Given the description of an element on the screen output the (x, y) to click on. 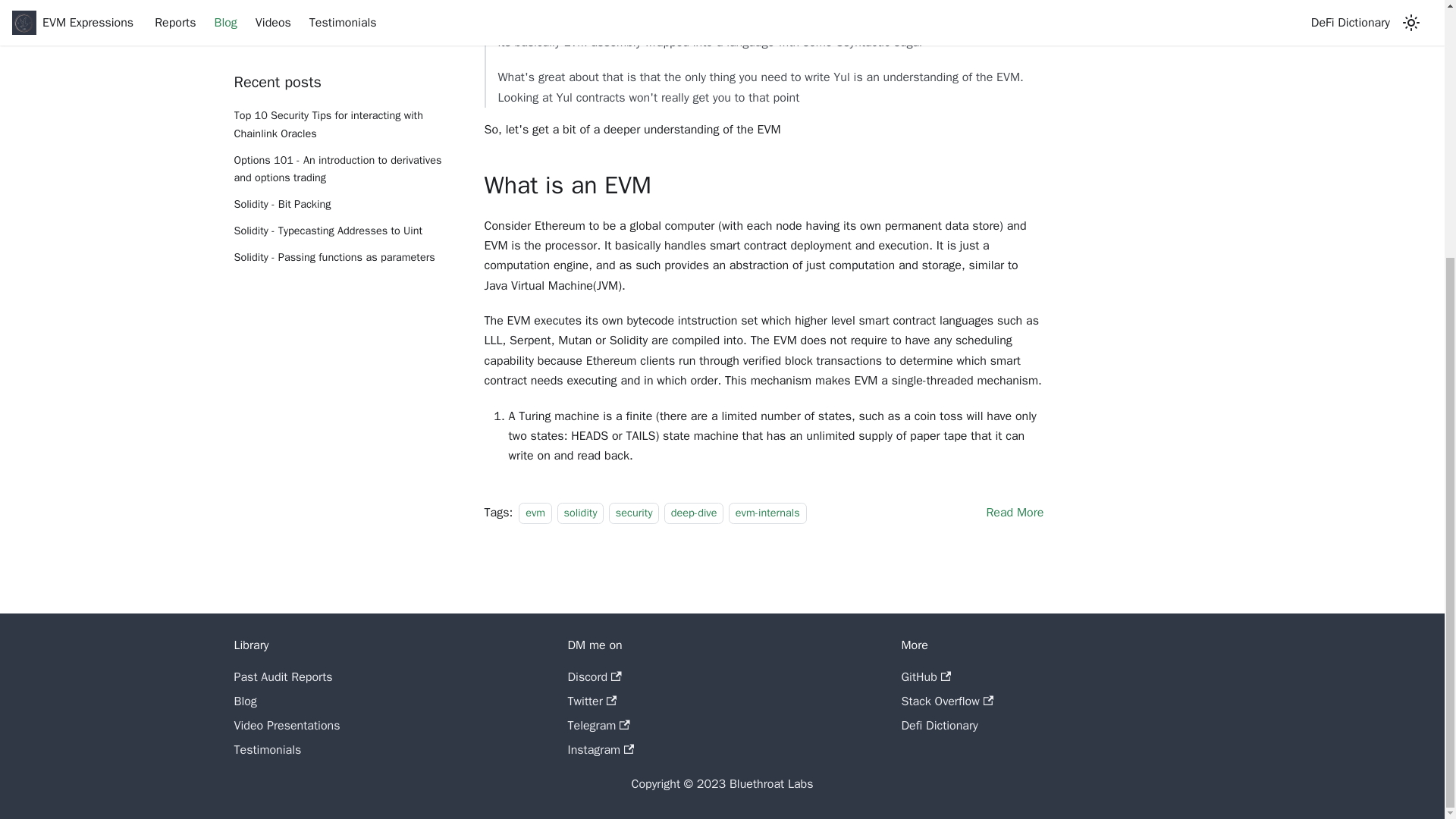
Telegram (597, 725)
GitHub (925, 676)
solidity (580, 513)
deep-dive (693, 513)
Discord (594, 676)
Past Audit Reports (281, 676)
Blog (244, 701)
Video Presentations (285, 725)
evm (534, 513)
Defi Dictionary (938, 725)
Testimonials (266, 749)
security (633, 513)
Read More (1014, 512)
Twitter (591, 701)
evm-internals (767, 513)
